Given the description of an element on the screen output the (x, y) to click on. 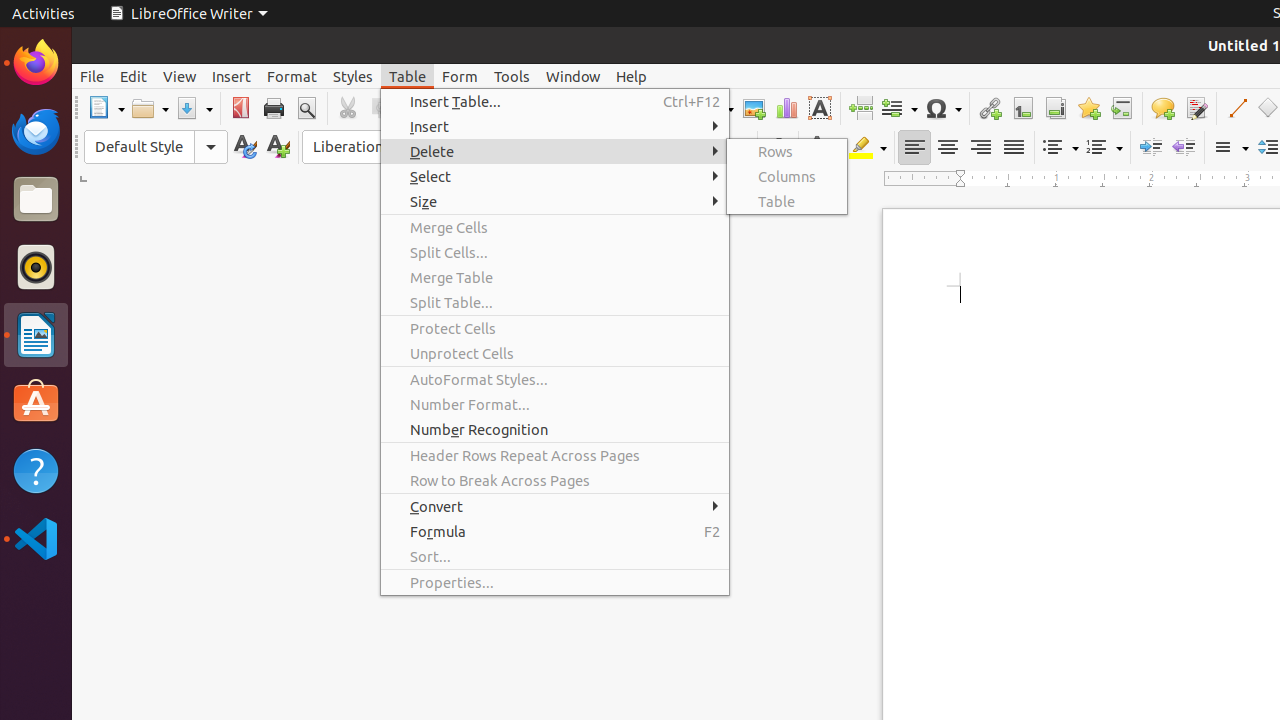
File Element type: menu (92, 76)
Insert Table... Element type: menu-item (555, 101)
Size Element type: menu (555, 201)
Convert Element type: menu (555, 506)
Center Element type: toggle-button (947, 147)
